Given the description of an element on the screen output the (x, y) to click on. 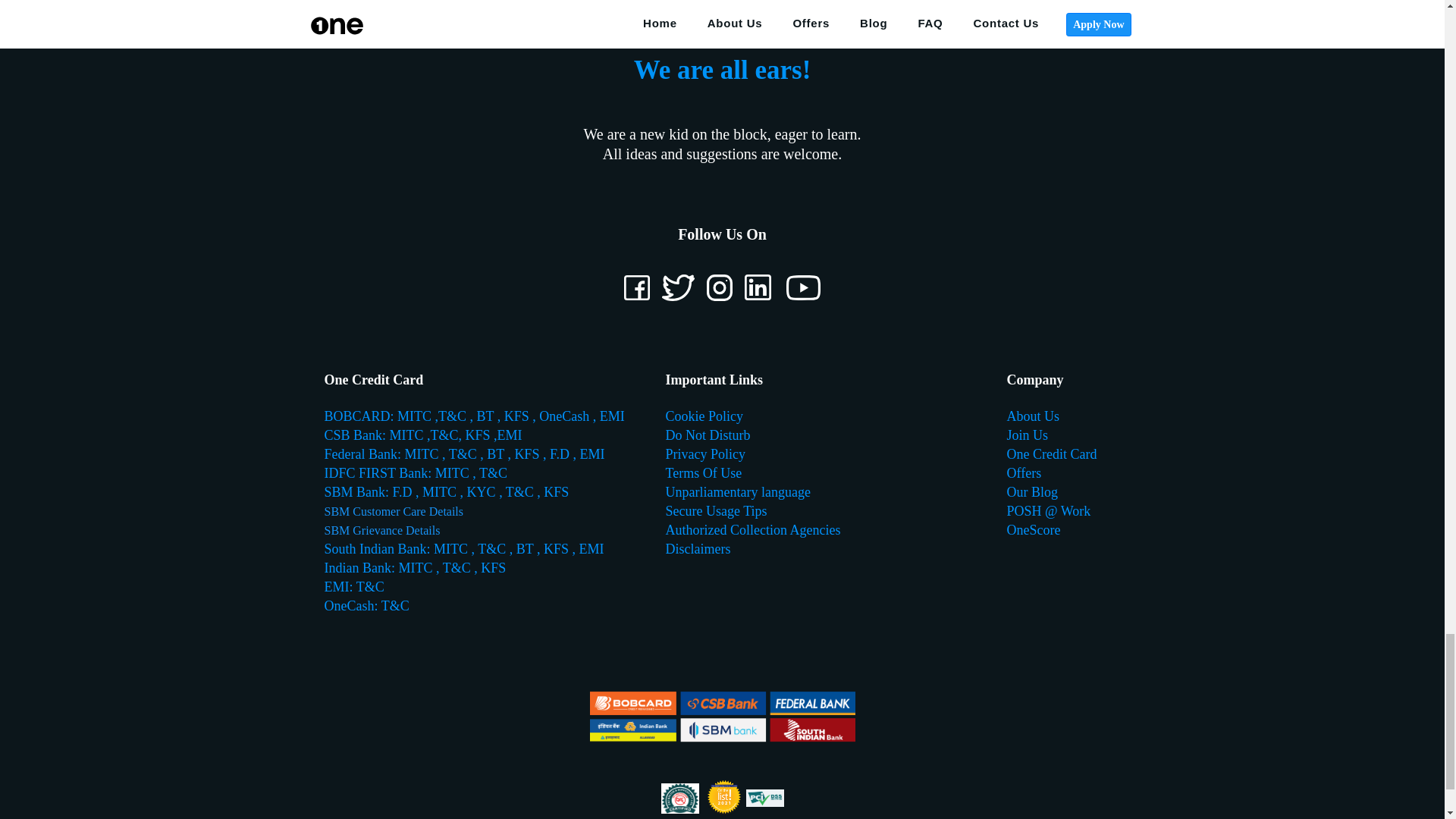
BT (486, 416)
MITC (416, 416)
KFS (517, 416)
EMI (611, 416)
OneCash (563, 416)
